Given the description of an element on the screen output the (x, y) to click on. 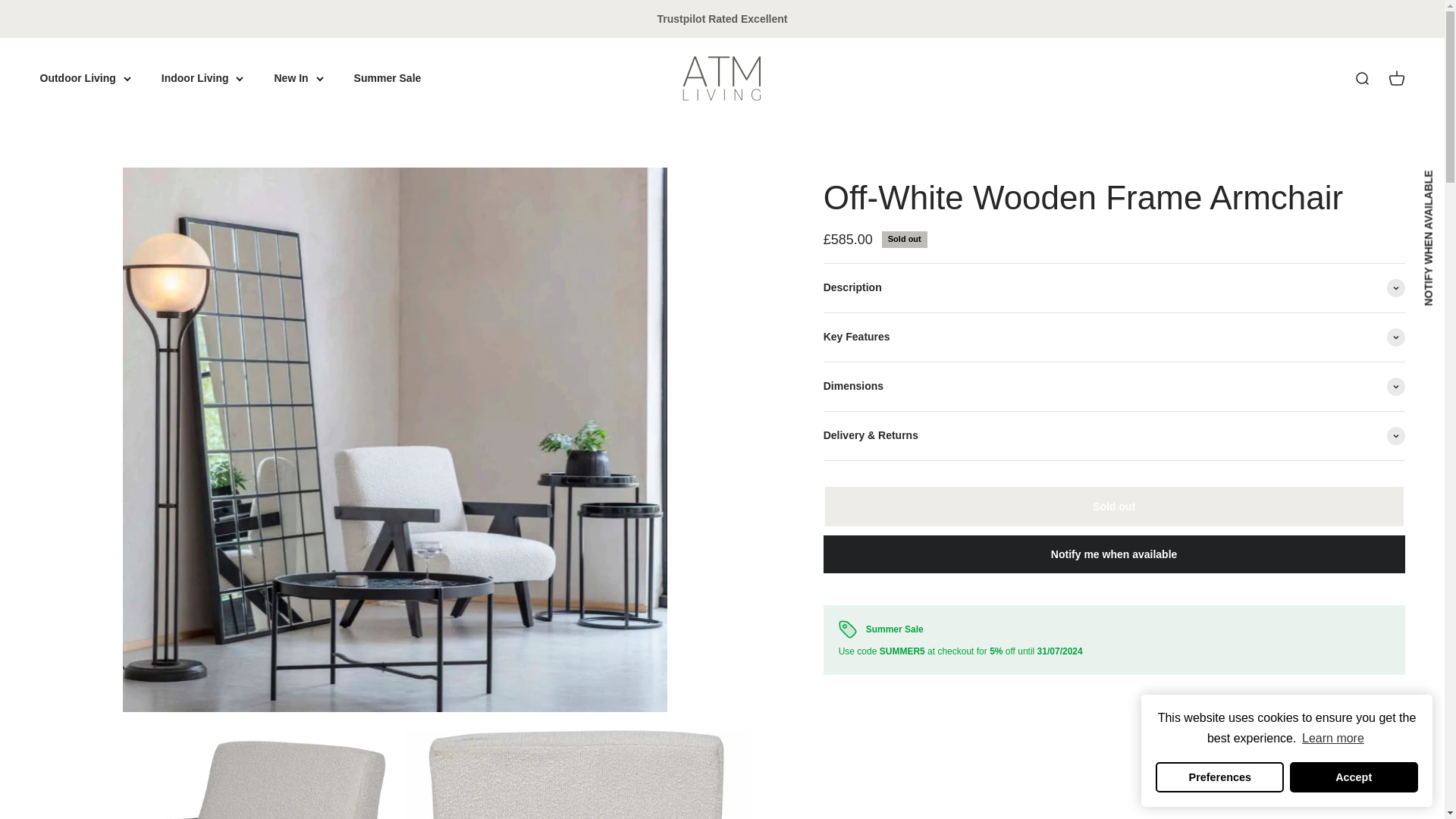
Accept (1354, 777)
Learn more (1333, 738)
Preferences (1220, 777)
